Given the description of an element on the screen output the (x, y) to click on. 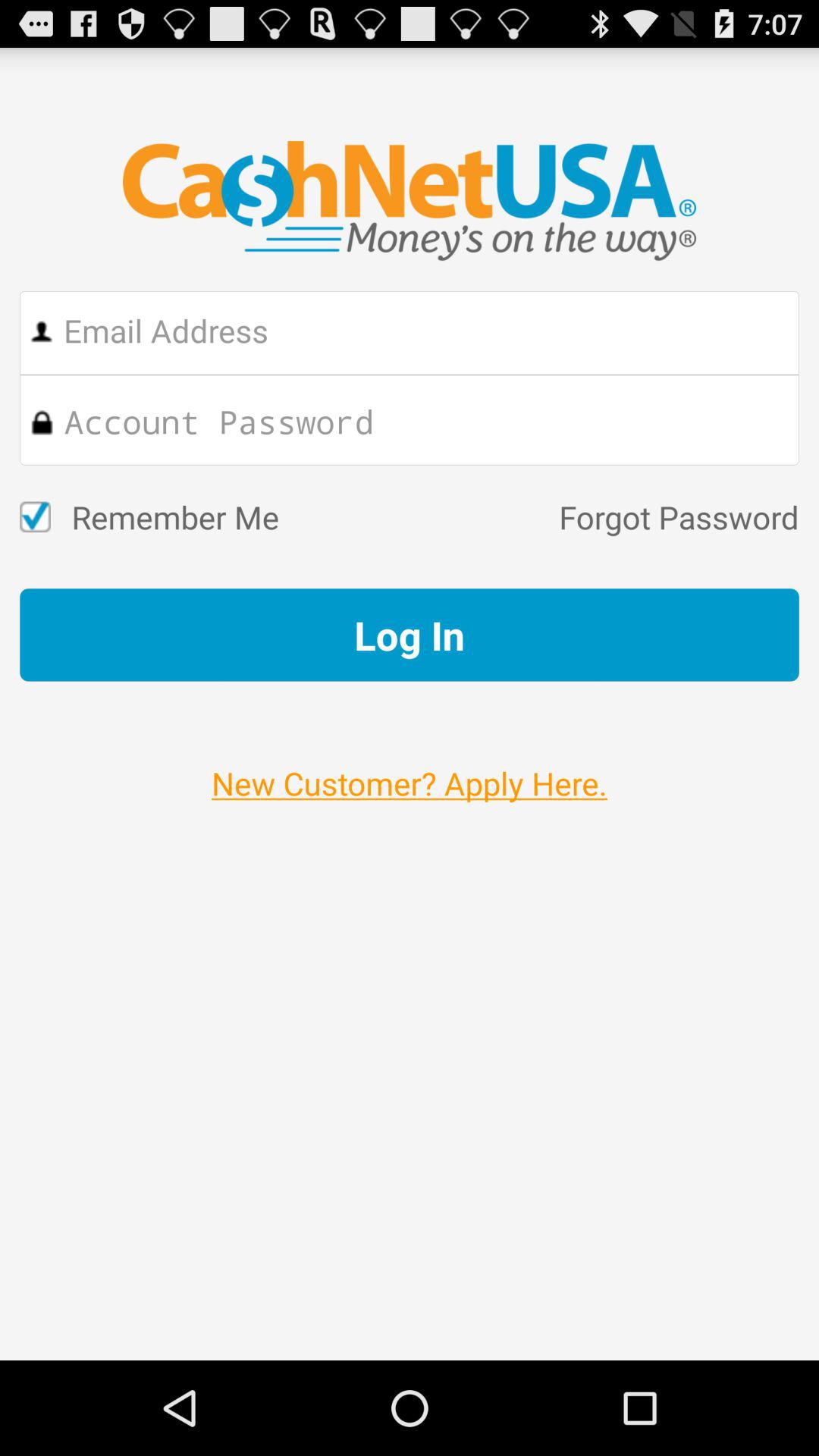
turn on the icon next to remember me (539, 516)
